Given the description of an element on the screen output the (x, y) to click on. 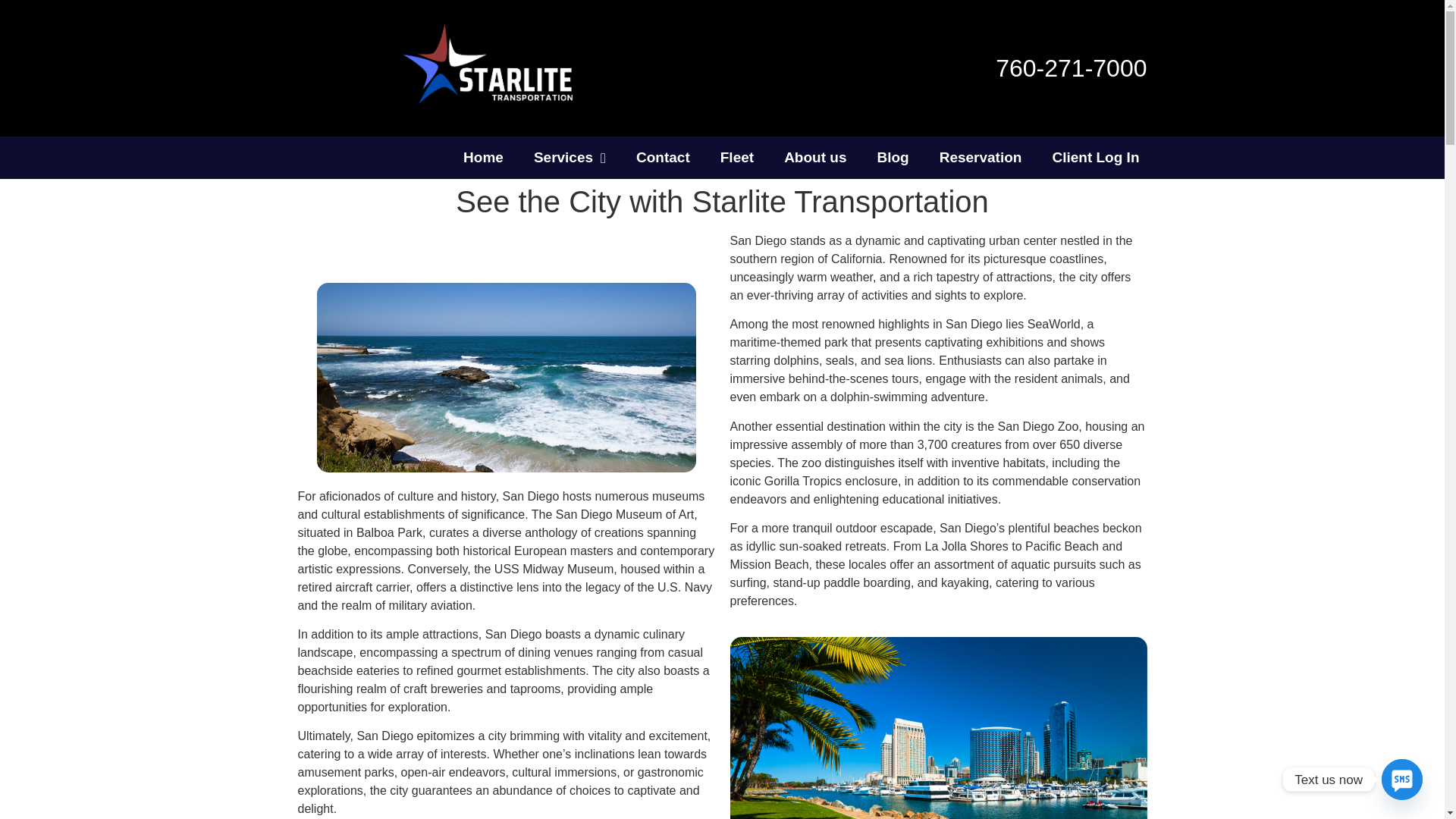
Client Log In (1095, 157)
Blog (892, 157)
About us (814, 157)
Home (483, 157)
Fleet (736, 157)
Contact (662, 157)
760-271-7000 (1071, 67)
Reservation (980, 157)
Services (569, 157)
